Given the description of an element on the screen output the (x, y) to click on. 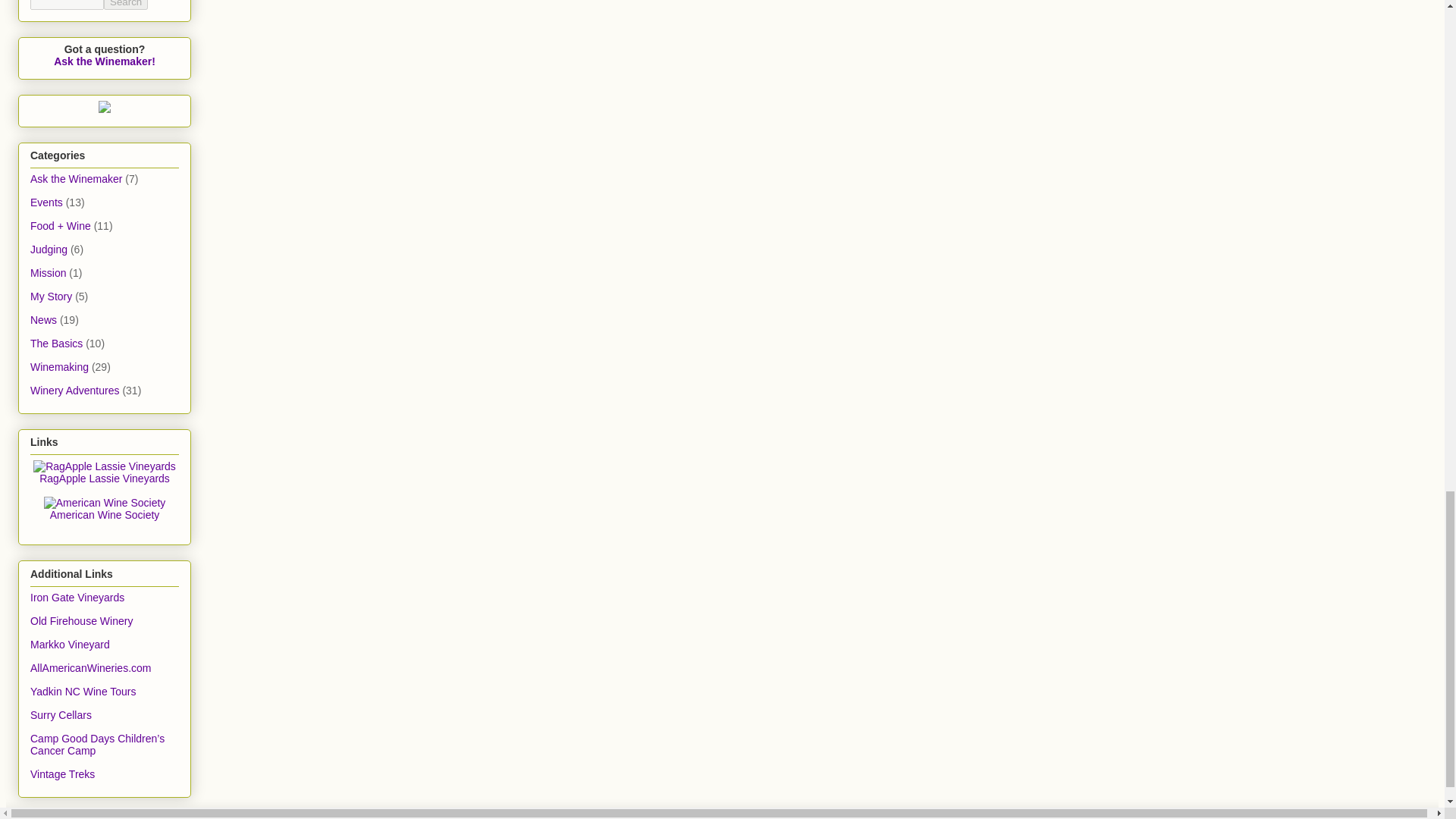
search (125, 4)
Mission (47, 272)
American Wine Society (104, 514)
The Basics (56, 343)
News (43, 319)
Winemaking (59, 367)
My Story (50, 296)
Ask the Winemaker (76, 178)
Judging (48, 249)
Winery Adventures (74, 390)
Search (125, 4)
Events (46, 202)
Ask the Winemaker! (104, 61)
Iron Gate Vineyards (76, 597)
Search (125, 4)
